Given the description of an element on the screen output the (x, y) to click on. 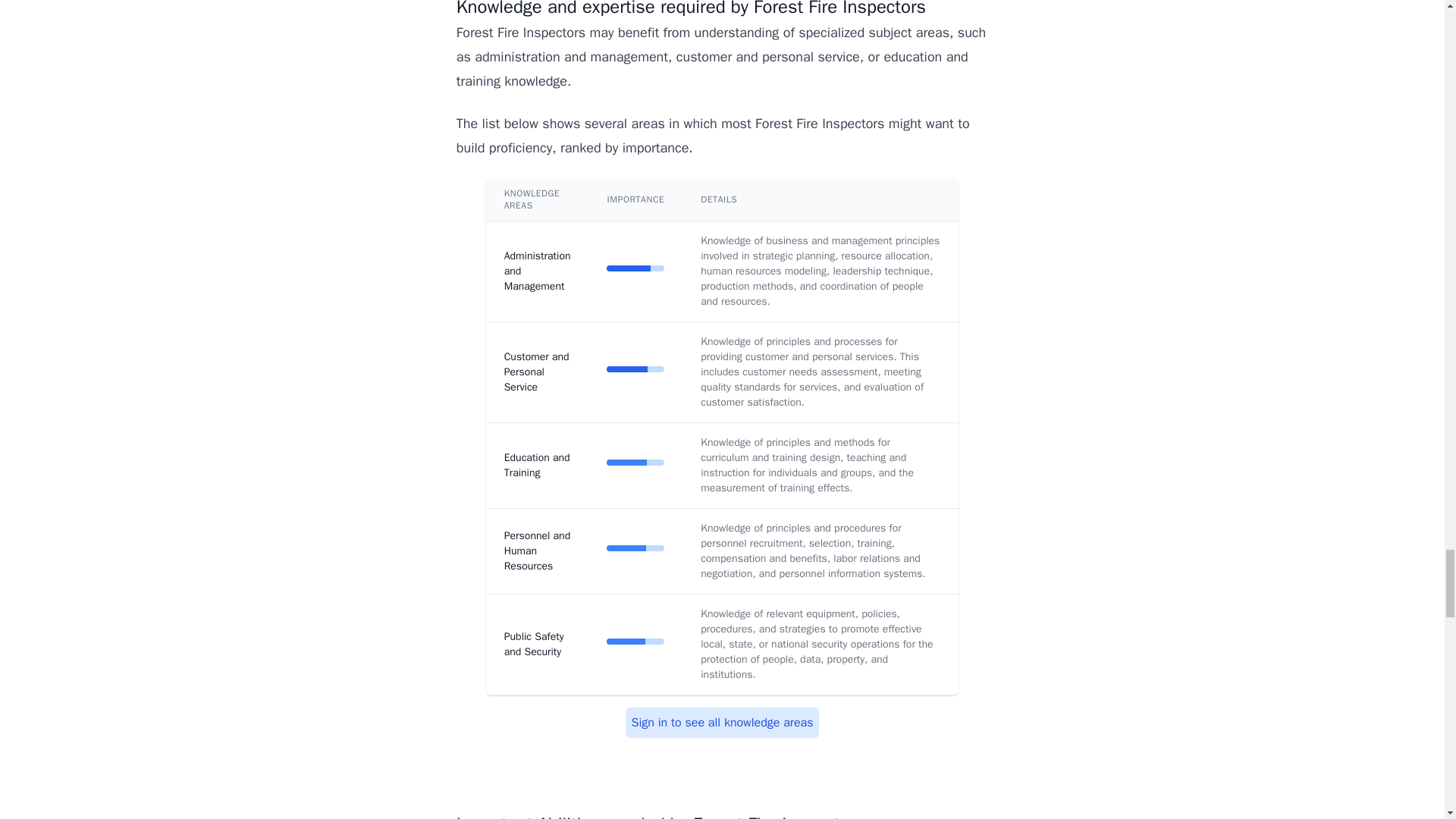
Sign in to see all knowledge areas (722, 722)
